Given the description of an element on the screen output the (x, y) to click on. 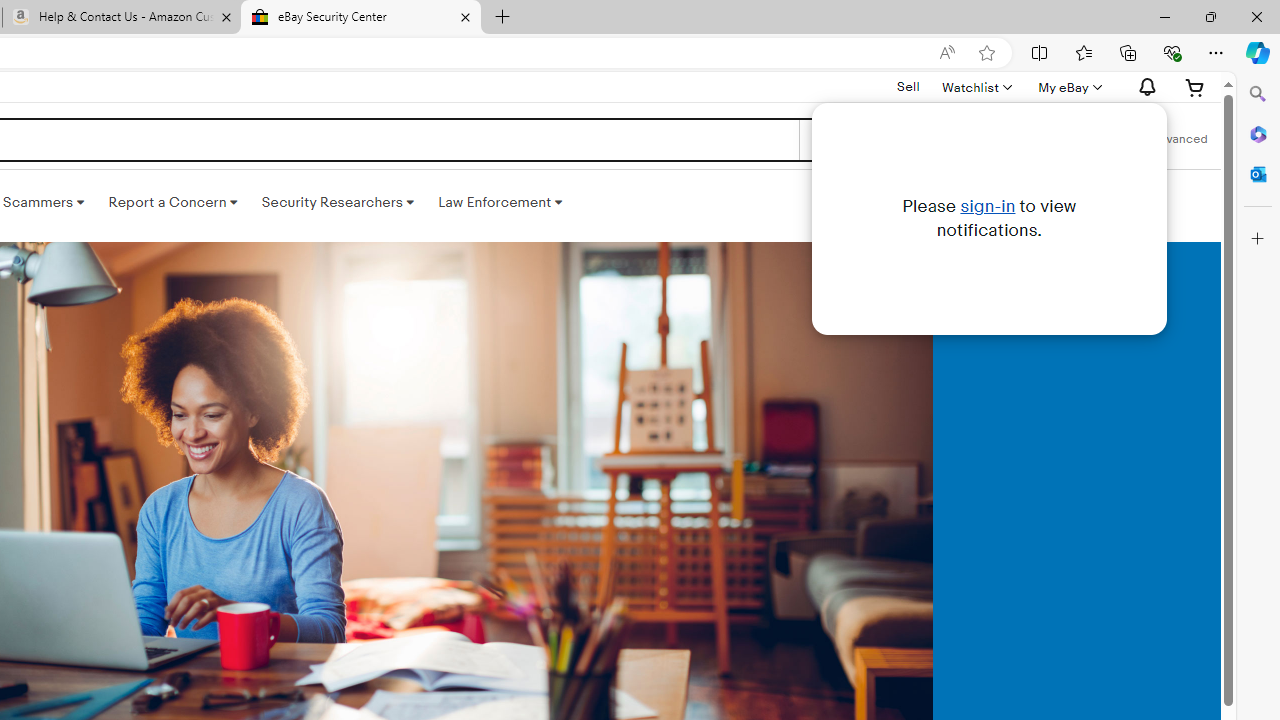
Advanced Search (1179, 139)
Your shopping cart (1195, 87)
Law Enforcement  (500, 202)
eBay Security Center (360, 17)
Law Enforcement  (500, 202)
Security Researchers  (337, 202)
Select a category for search (877, 139)
